Given the description of an element on the screen output the (x, y) to click on. 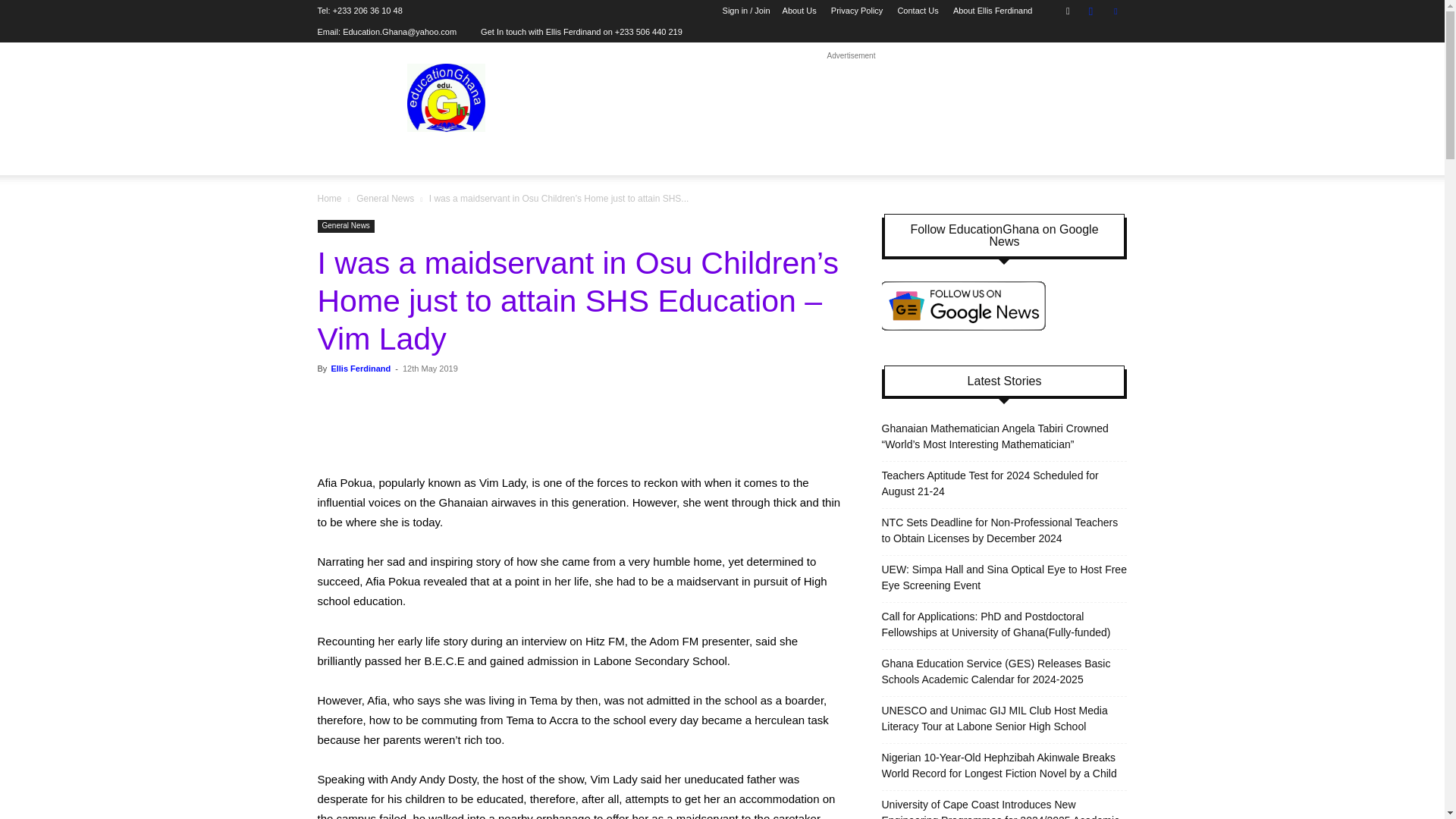
View all posts in General News (384, 198)
Instagram (1090, 10)
Twitter (1114, 10)
topFacebookLike (430, 396)
